Given the description of an element on the screen output the (x, y) to click on. 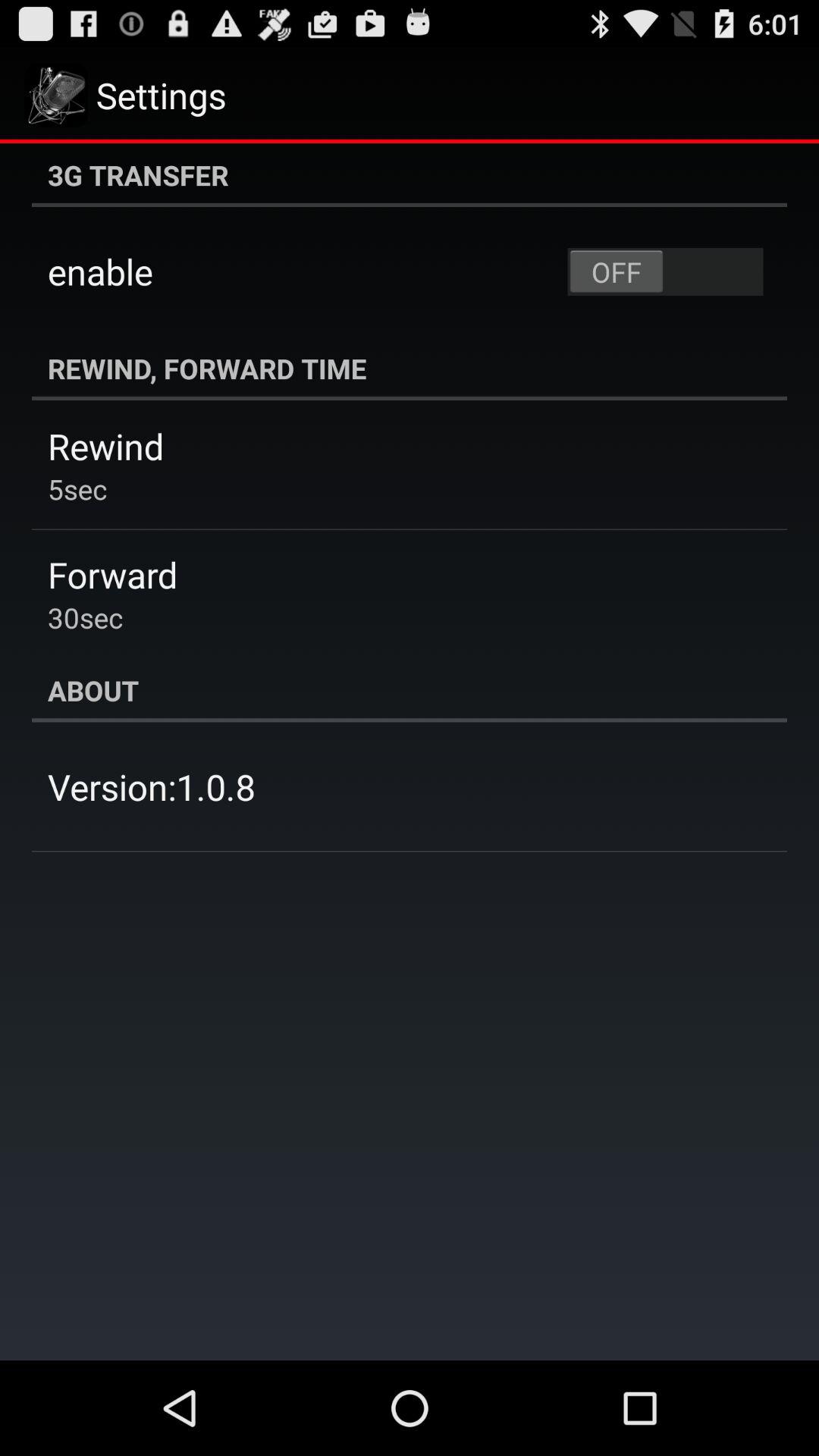
tap about app (409, 690)
